Given the description of an element on the screen output the (x, y) to click on. 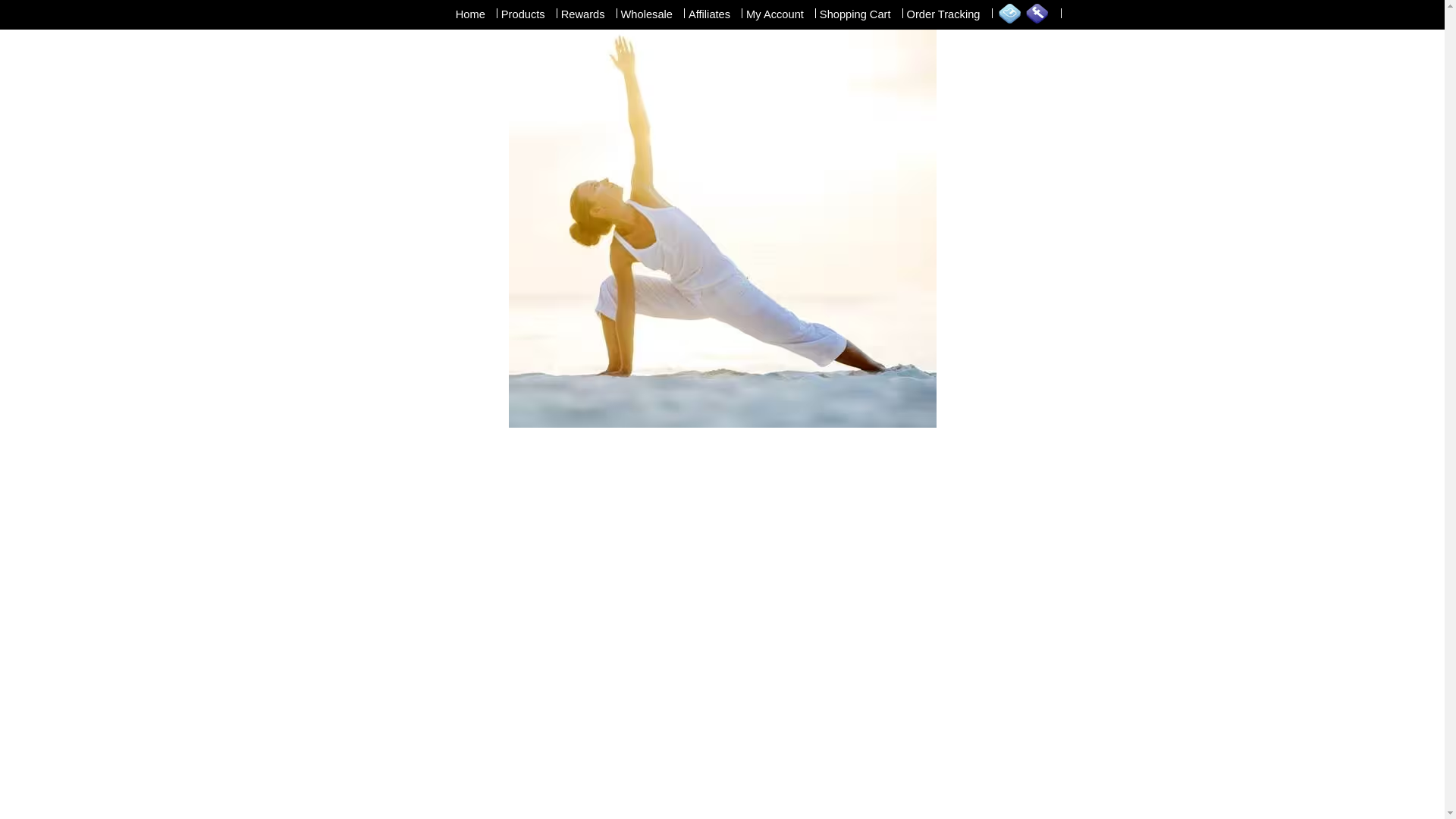
Affiliates (710, 14)
Products (523, 14)
Rewards (583, 14)
Home (470, 14)
Shopping Cart (855, 14)
Order Tracking (944, 14)
My Account (775, 14)
Wholesale (647, 14)
